Given the description of an element on the screen output the (x, y) to click on. 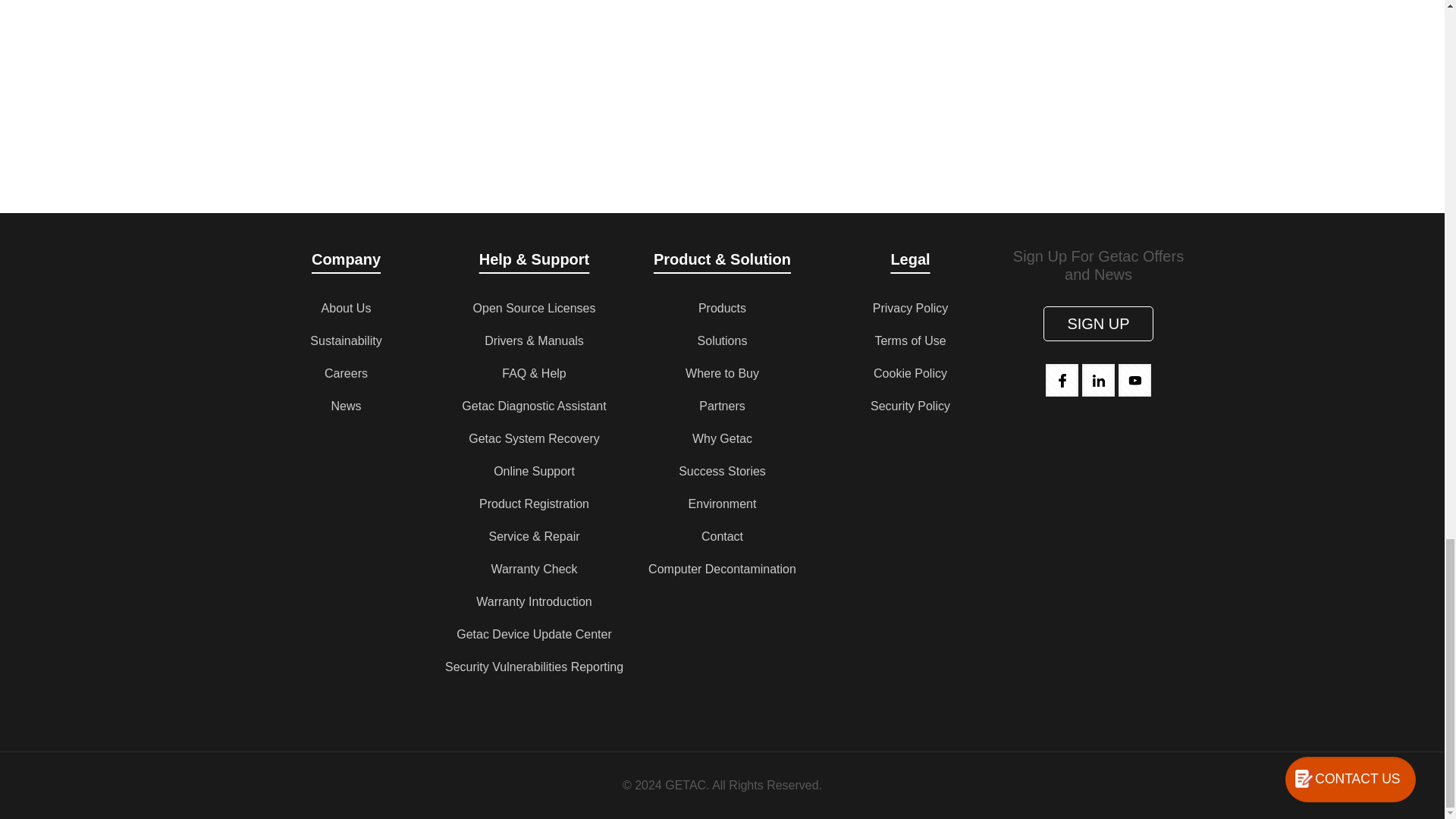
Form 0 (721, 68)
